Given the description of an element on the screen output the (x, y) to click on. 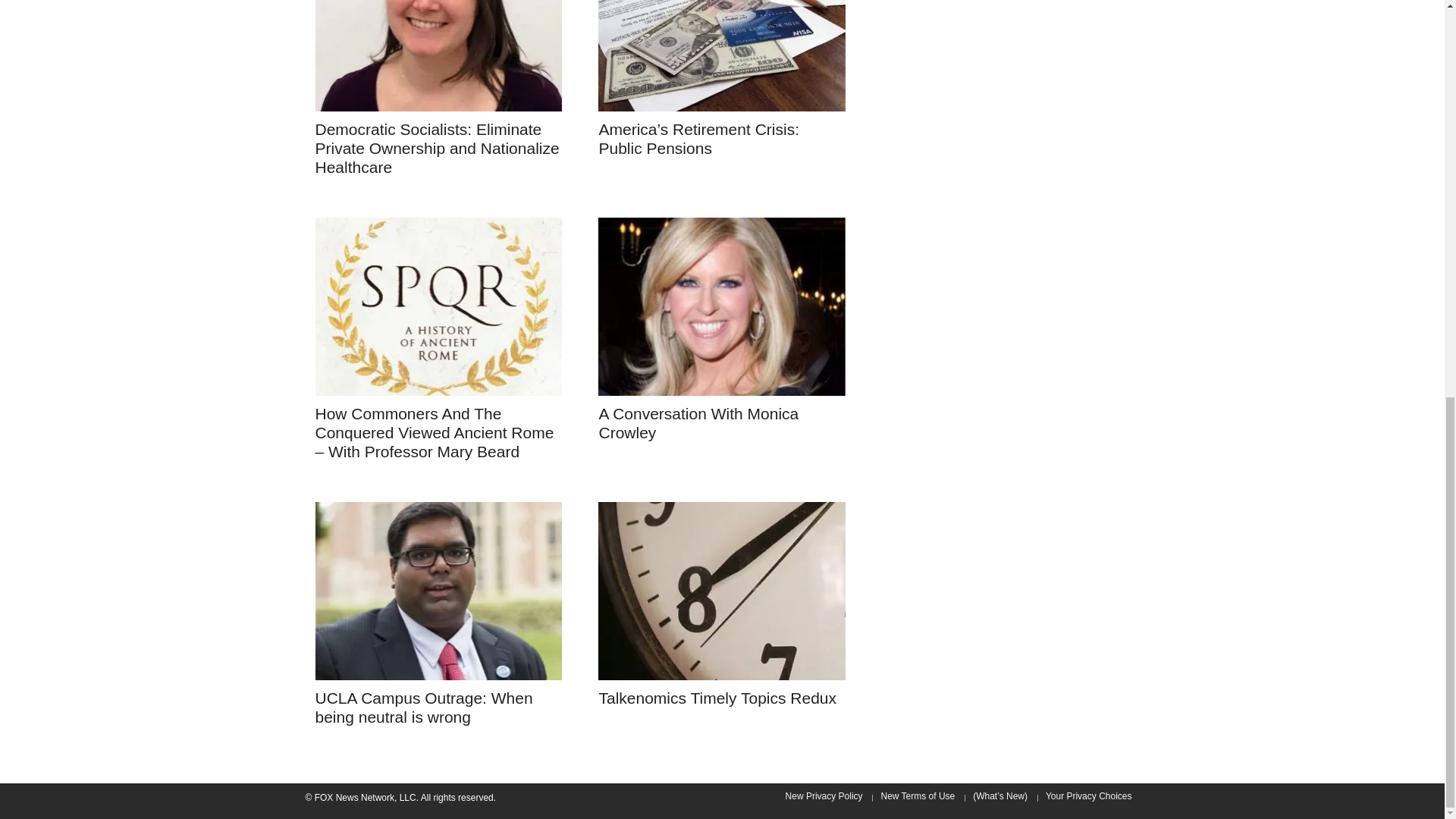
A Conversation With Monica Crowley (721, 305)
A Conversation With Monica Crowley (721, 306)
UCLA Campus Outrage: When being neutral is wrong (438, 589)
A Conversation With Monica Crowley (697, 422)
UCLA Campus Outrage: When being neutral is wrong (438, 591)
